Given the description of an element on the screen output the (x, y) to click on. 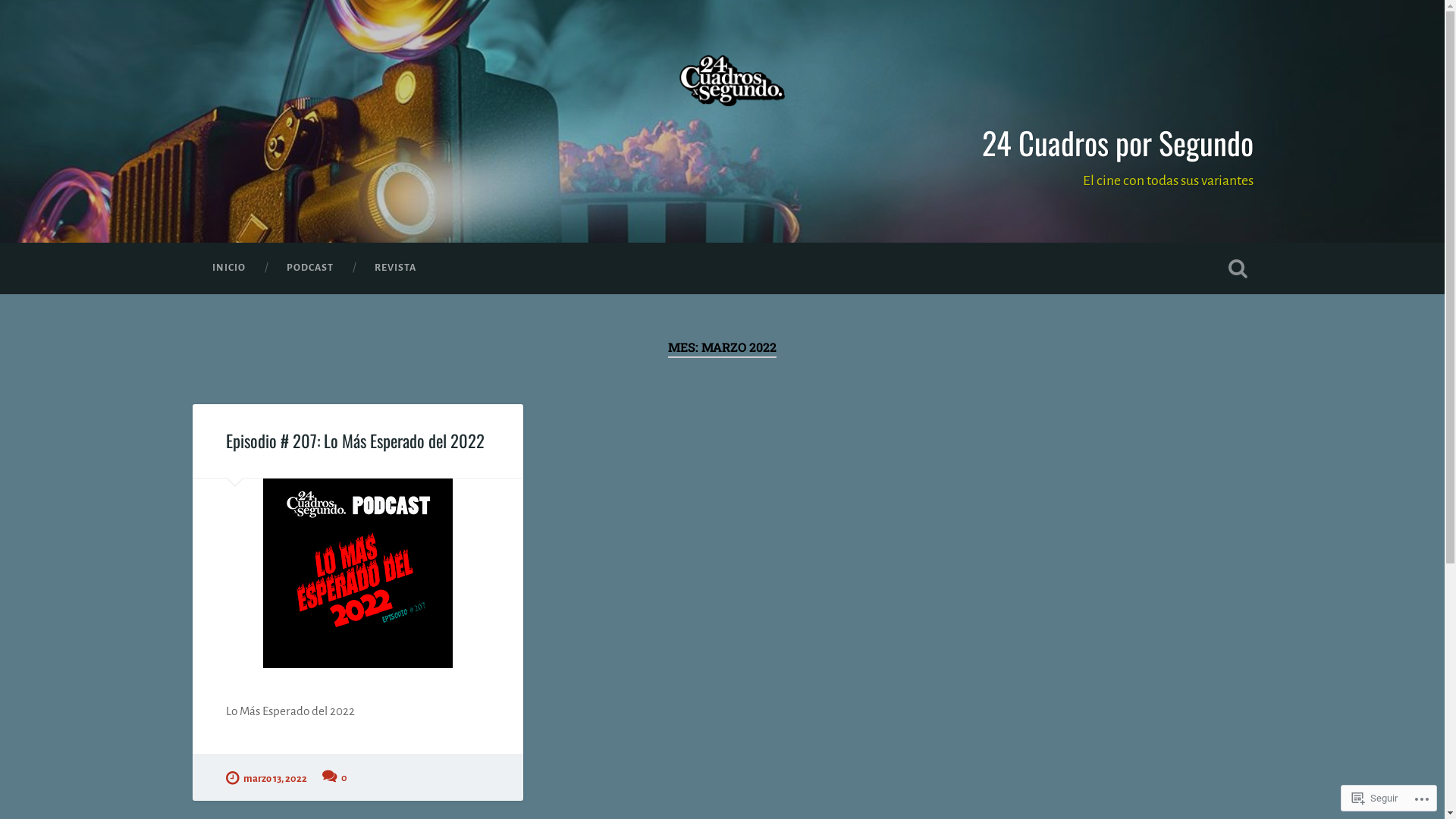
24 Cuadros por Segundo Element type: text (1116, 142)
Busca Element type: text (1237, 268)
0 Element type: text (334, 776)
marzo 13, 2022 Element type: text (266, 776)
REVISTA Element type: text (394, 268)
INICIO Element type: text (228, 268)
Seguir Element type: text (1374, 797)
PODCAST Element type: text (309, 268)
